Given the description of an element on the screen output the (x, y) to click on. 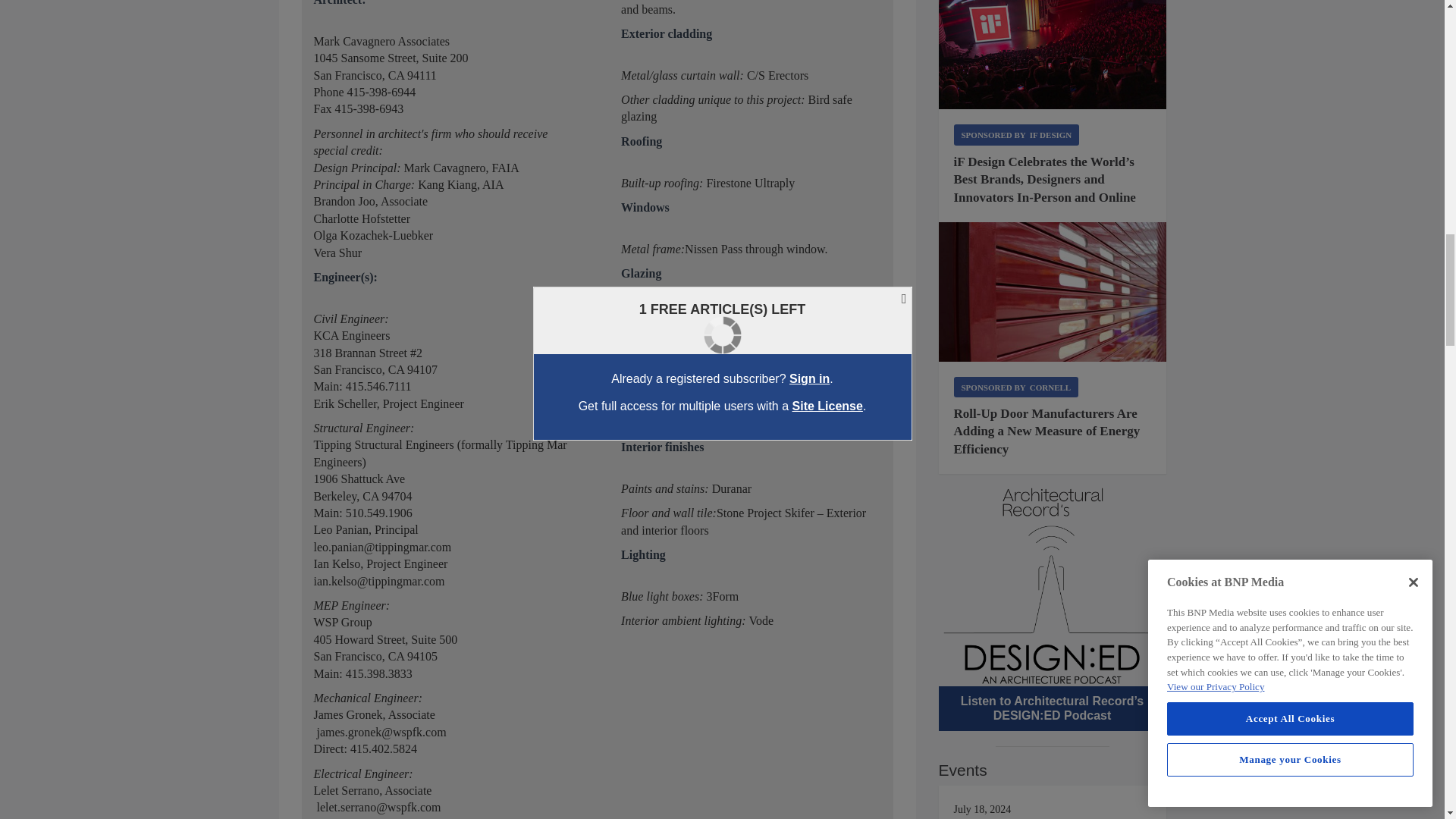
Sponsored by iF Design (1016, 134)
Clopay Thermiser Max (1052, 291)
iF Design Awards (1052, 54)
Sponsored by Cornell (1015, 386)
